Given the description of an element on the screen output the (x, y) to click on. 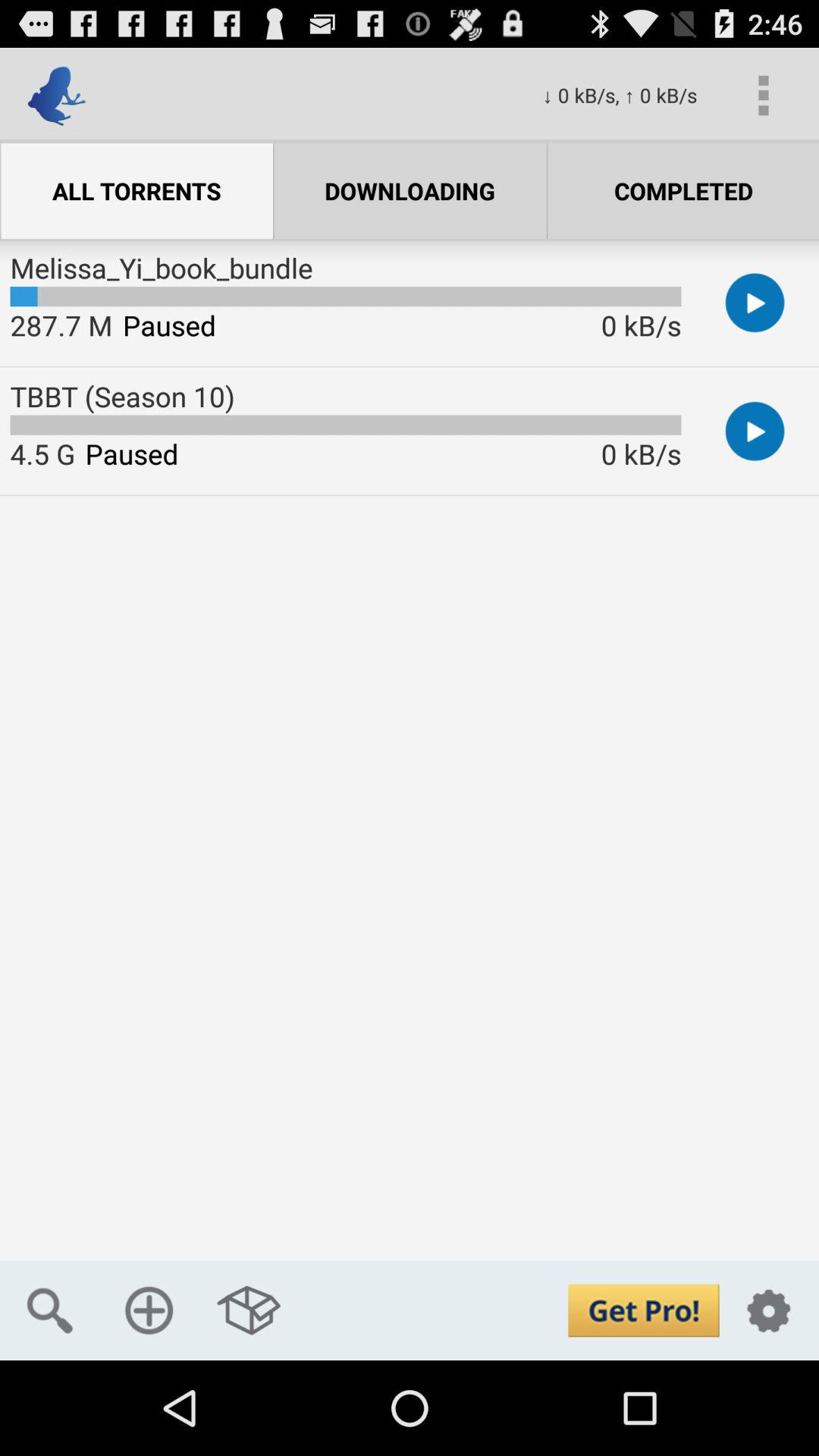
click item below all torrents icon (161, 267)
